Given the description of an element on the screen output the (x, y) to click on. 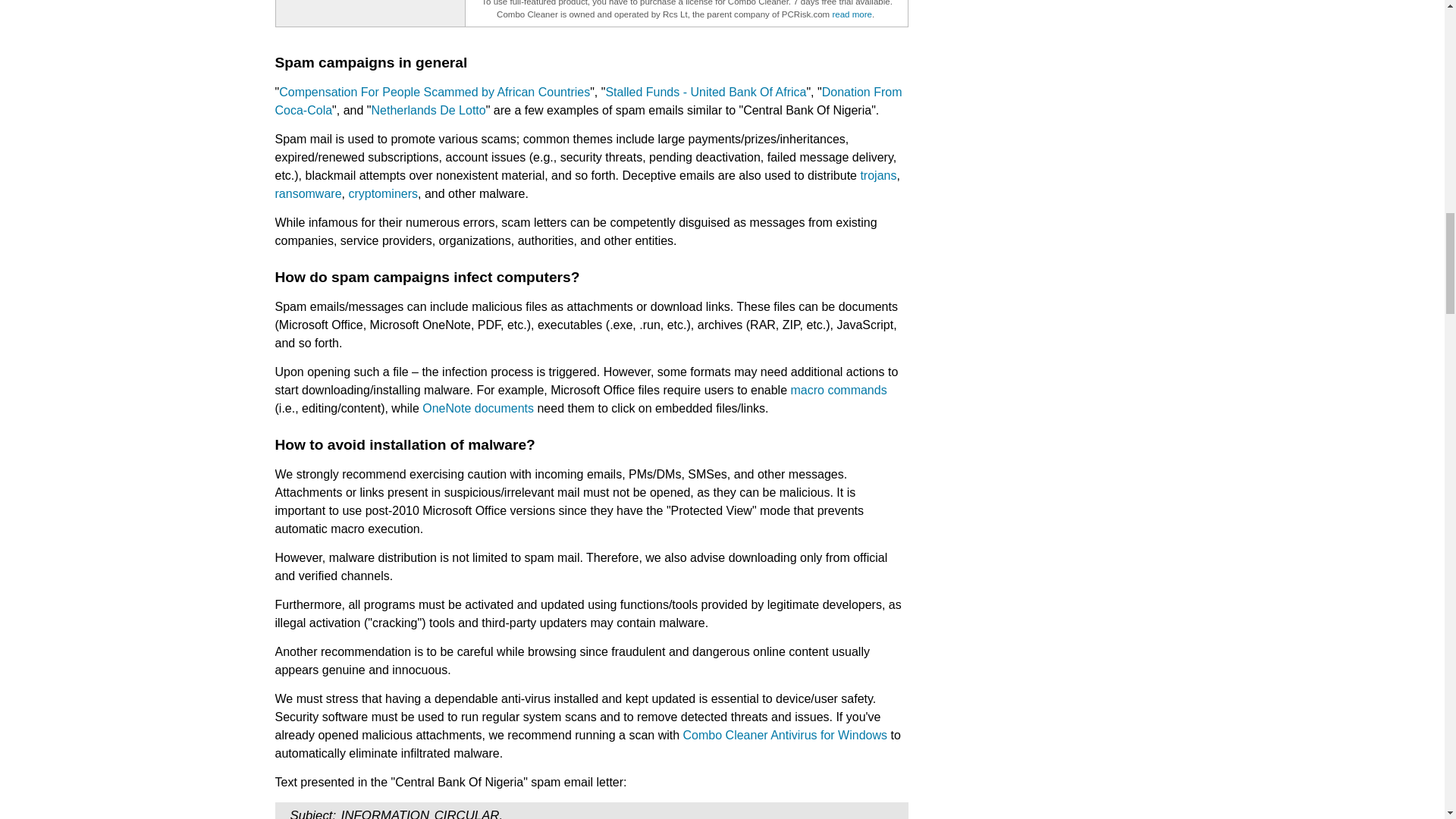
ransomware (307, 193)
read more (850, 13)
Compensation For People Scammed by African Countries (434, 91)
Donation From Coca-Cola (588, 101)
Read more about us (850, 13)
Stalled Funds - United Bank Of Africa (705, 91)
Netherlands De Lotto (427, 110)
trojans (878, 174)
